Given the description of an element on the screen output the (x, y) to click on. 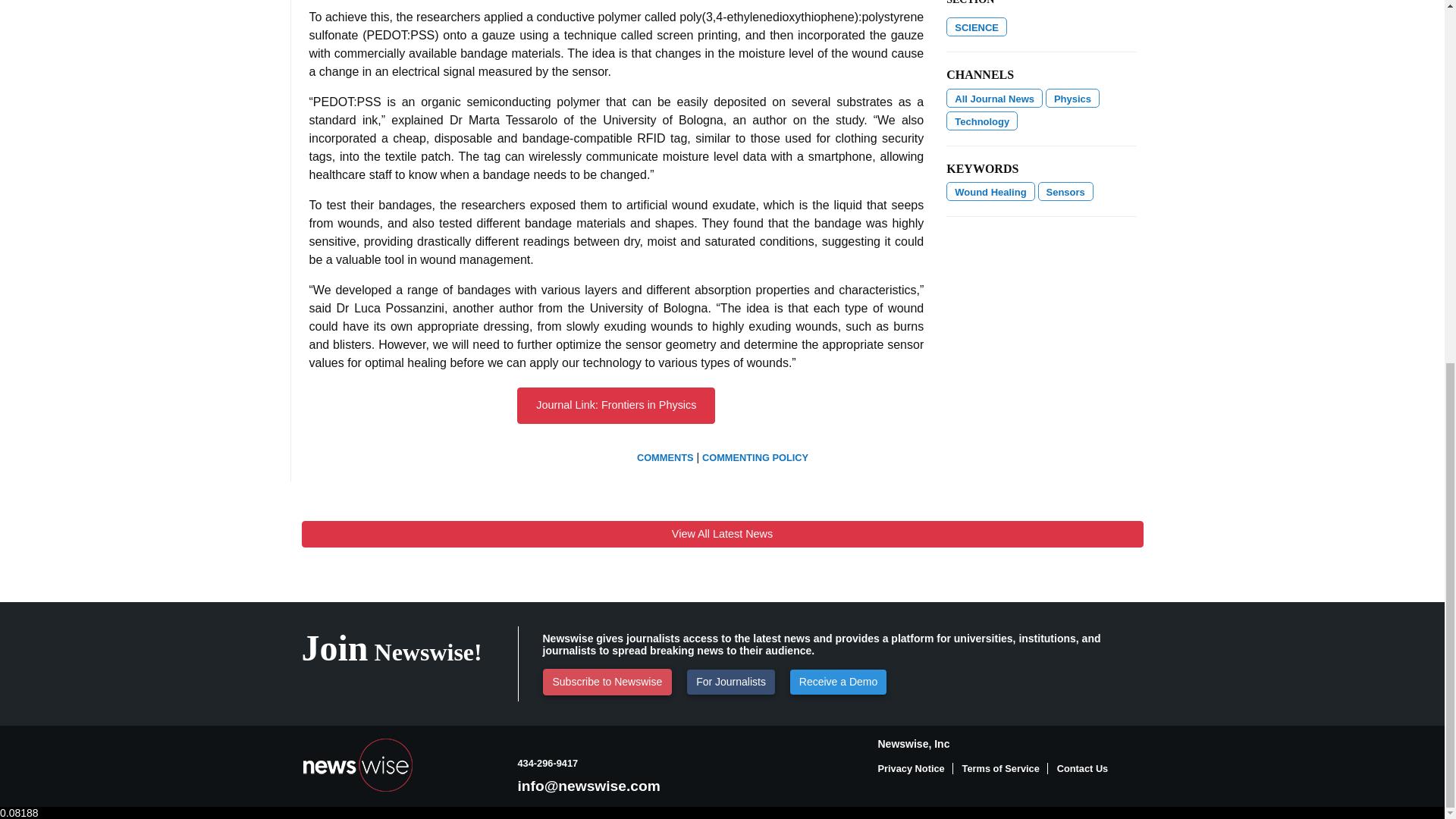
Show all articles in this channel (1072, 97)
Show all articles in this channel (994, 97)
Show all articles in this channel (981, 120)
Show all articles in this channel (976, 26)
